Given the description of an element on the screen output the (x, y) to click on. 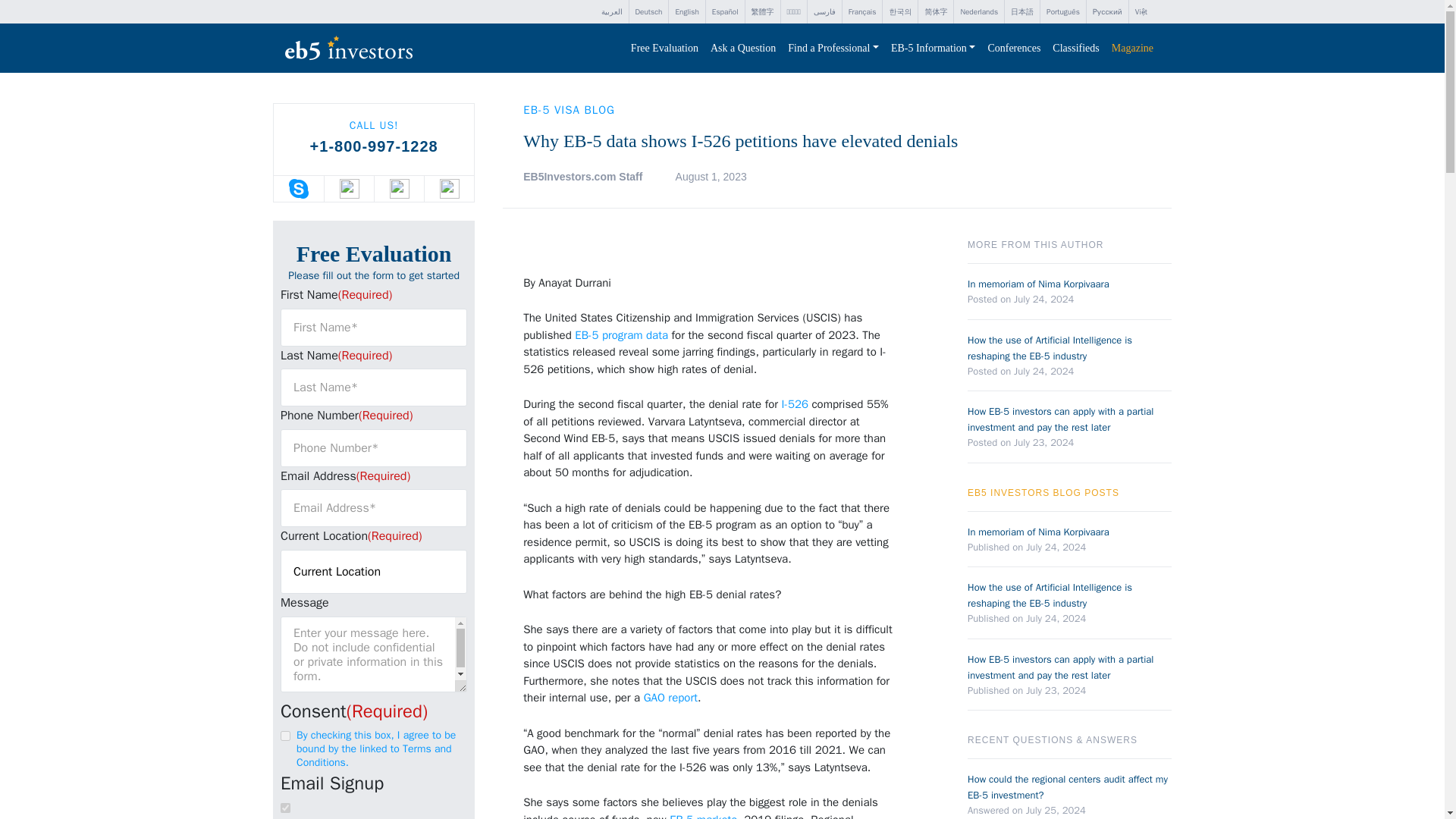
Ask a Question (742, 48)
Free Evaluation (664, 48)
1 (285, 736)
Ask a Question (742, 48)
EB-5 Information (933, 48)
Nederlands (978, 11)
Find a Professional (833, 48)
Deutsch (648, 11)
Free Evaluation (664, 48)
Find a Professional (833, 48)
English (686, 11)
